Given the description of an element on the screen output the (x, y) to click on. 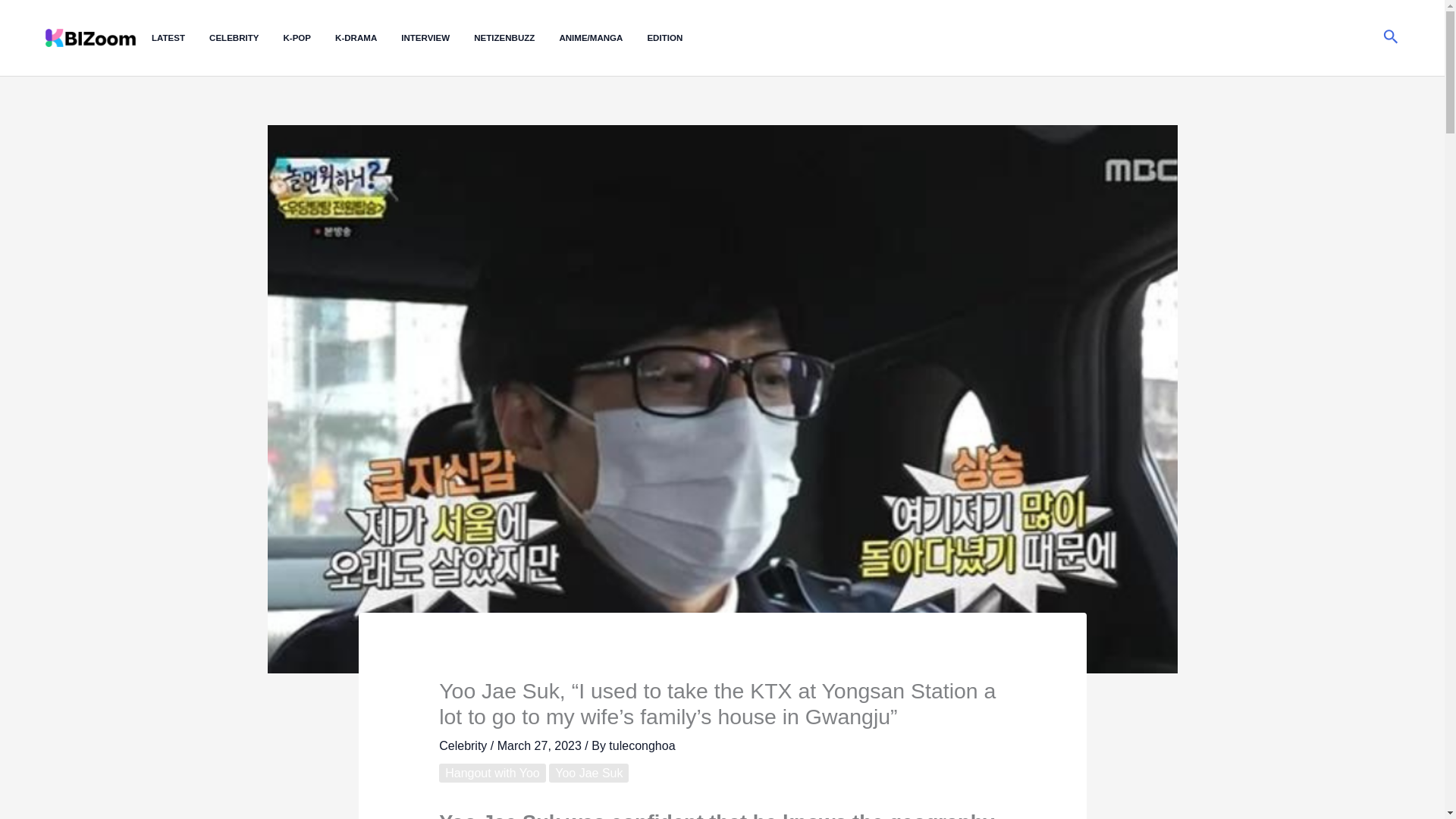
Hangout with Yoo (492, 772)
INTERVIEW (437, 38)
Celebrity (462, 745)
CELEBRITY (245, 38)
NETIZENBUZZ (516, 38)
Yoo Jae Suk (588, 772)
View all posts by tuleconghoa (641, 745)
tuleconghoa (641, 745)
